Given the description of an element on the screen output the (x, y) to click on. 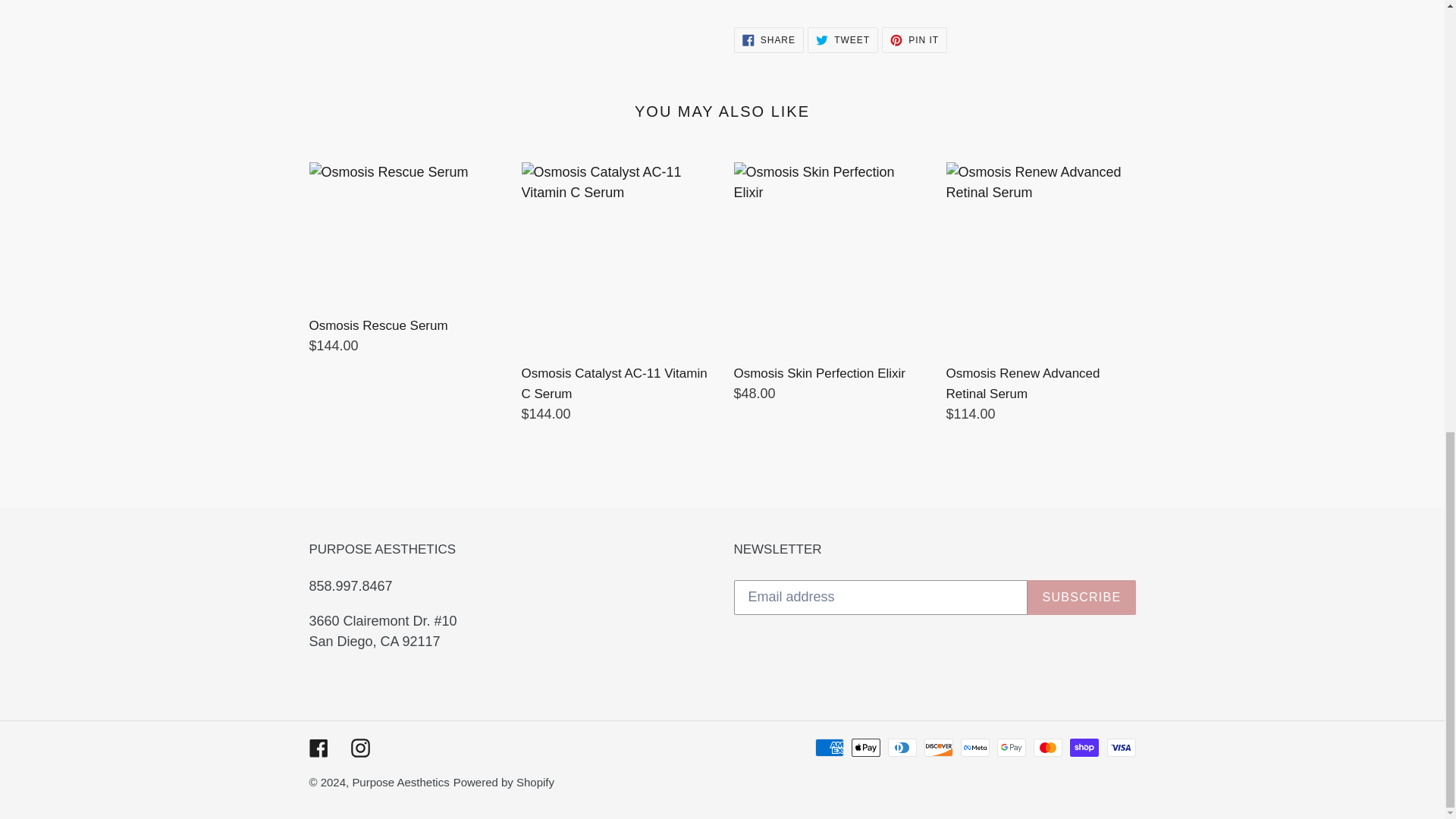
SUBSCRIBE (842, 40)
Instagram (1081, 597)
Purpose Aesthetics (359, 747)
Powered by Shopify (400, 781)
Facebook (768, 40)
Osmosis Rescue Serum (503, 781)
